Given the description of an element on the screen output the (x, y) to click on. 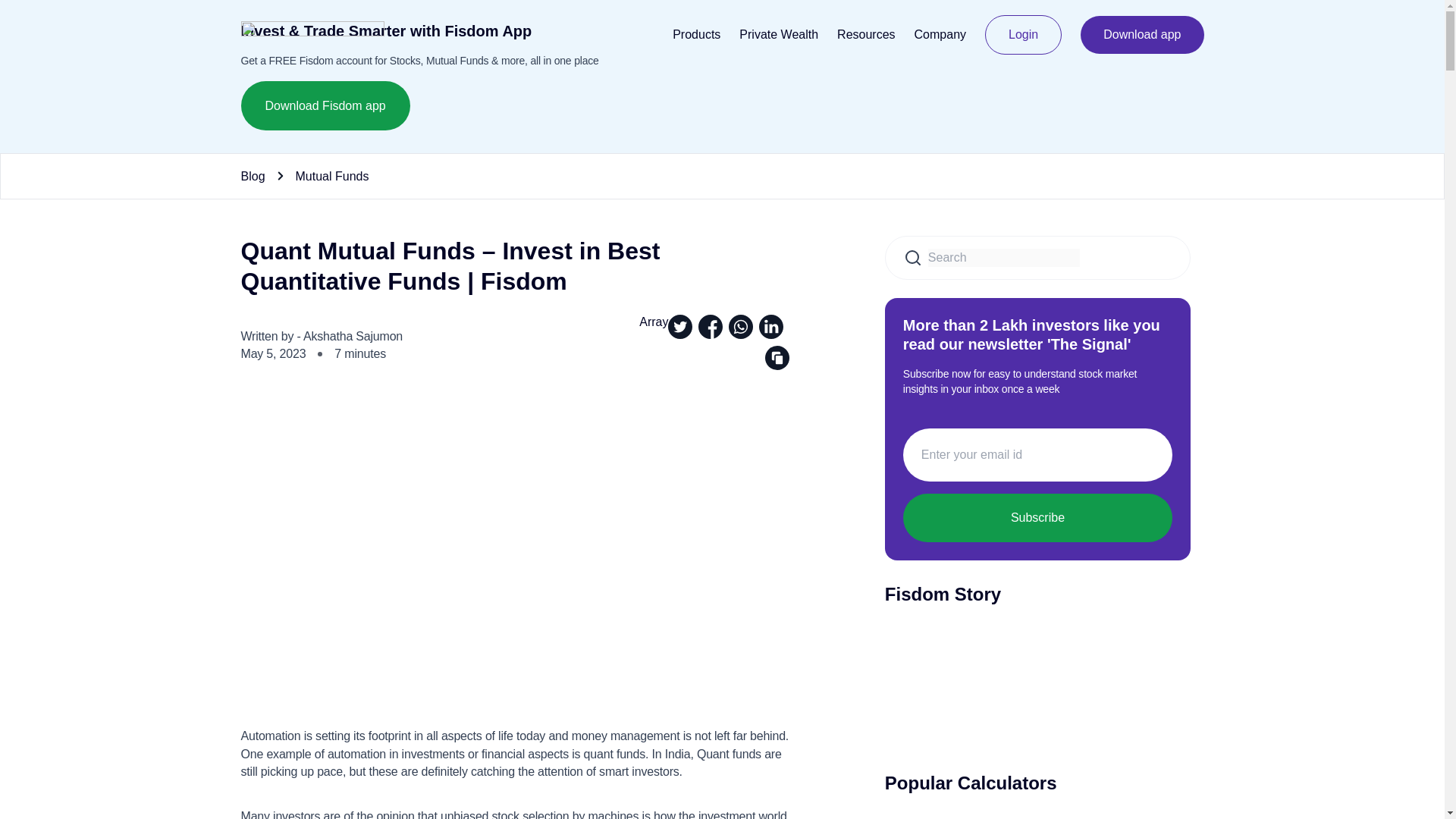
Products (696, 33)
Download Fisdom app (325, 105)
Login (1023, 34)
Blog (252, 175)
Company (940, 33)
Resources (866, 33)
Mutual Funds (332, 175)
Private Wealth (778, 33)
Download app (1142, 34)
Blog (252, 175)
